Given the description of an element on the screen output the (x, y) to click on. 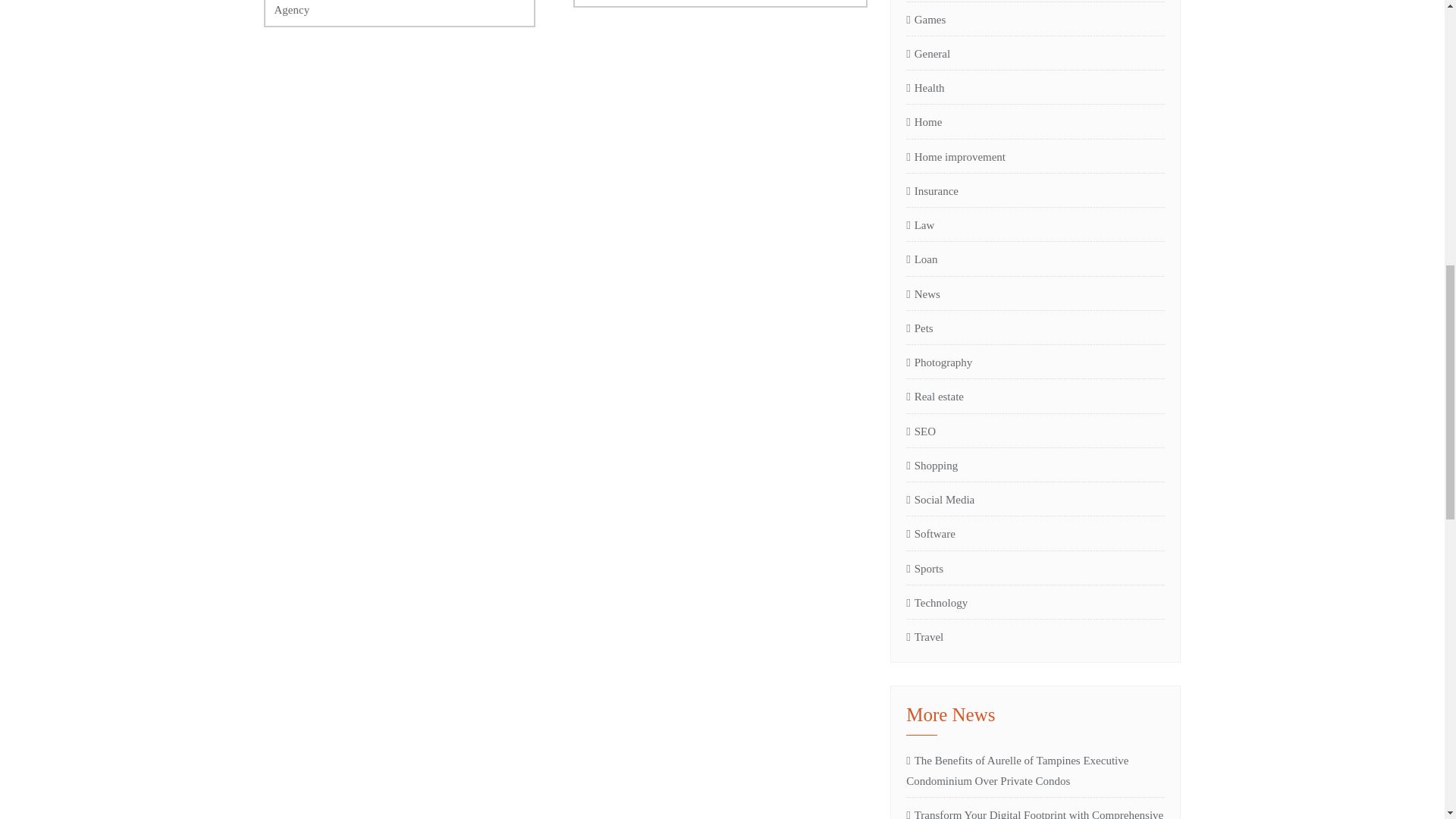
Start up the Chances on Business Digital Marketing Agency (399, 13)
News (922, 293)
Home (923, 121)
Loan (921, 259)
Pets (919, 328)
SEO (920, 431)
Photography (938, 362)
Software (930, 533)
Games (924, 19)
Shopping (931, 465)
